Given the description of an element on the screen output the (x, y) to click on. 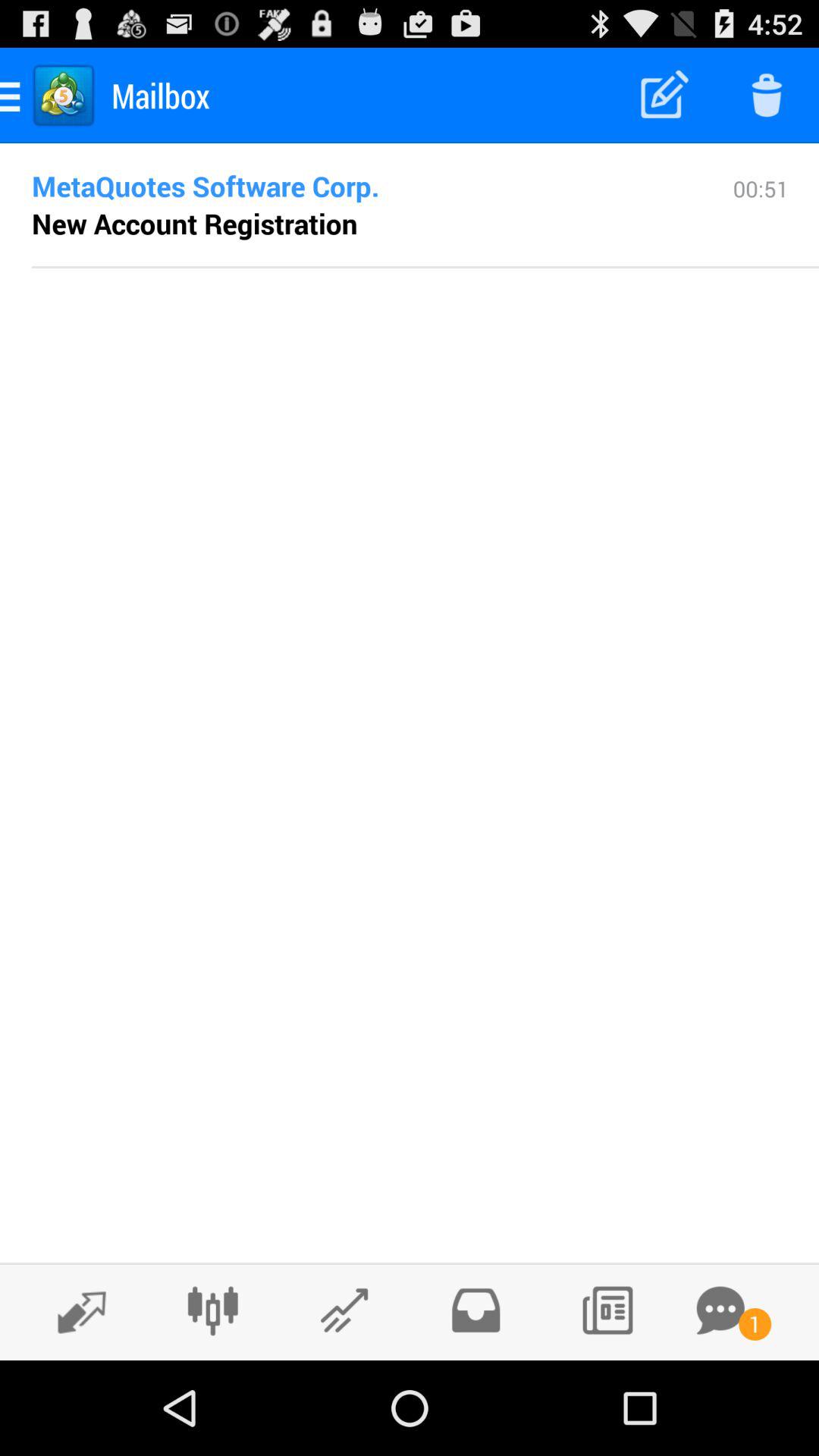
select the icon to the left of the 00:51 icon (358, 185)
